Given the description of an element on the screen output the (x, y) to click on. 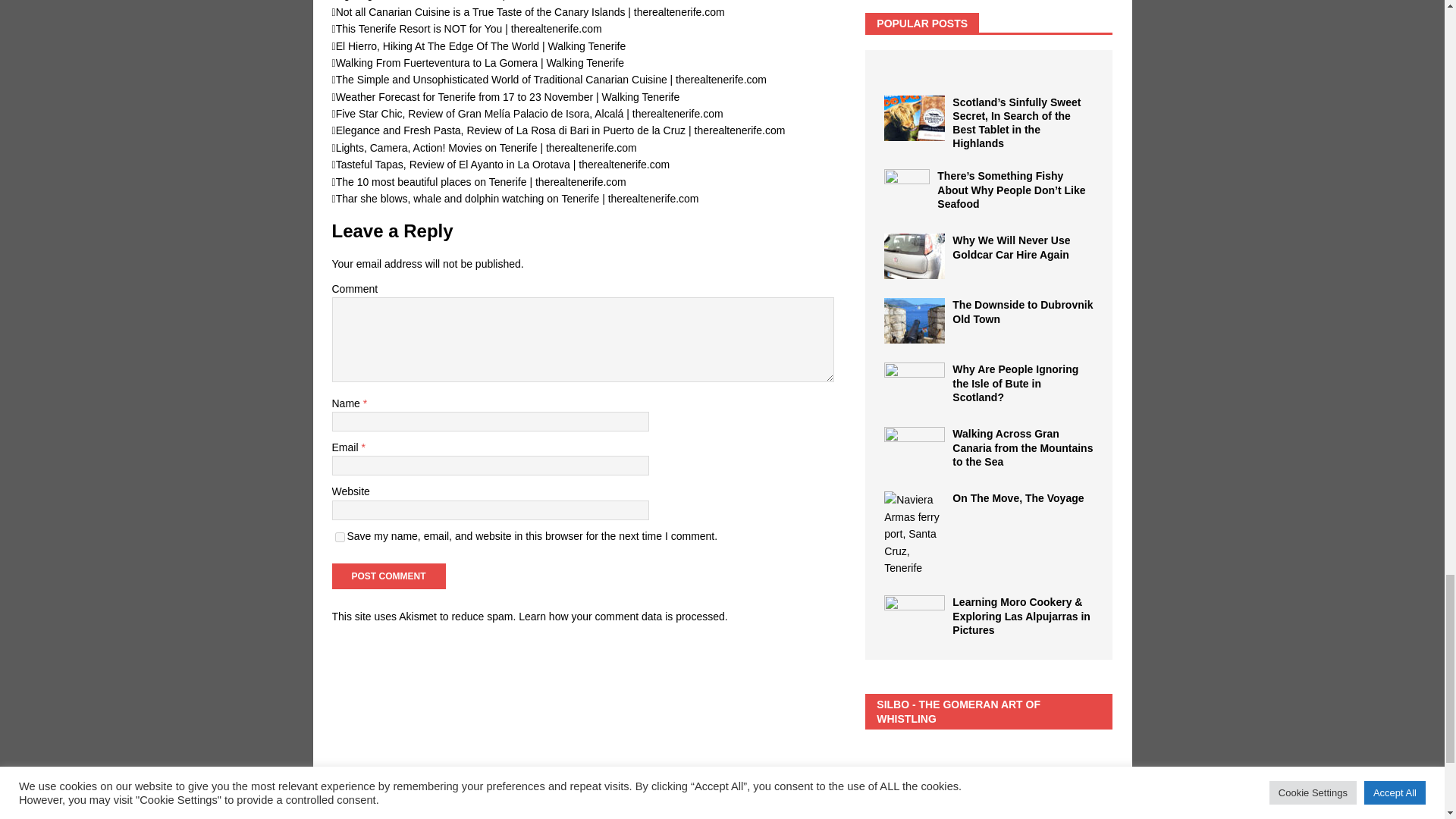
Post Comment (388, 575)
yes (339, 537)
